Given the description of an element on the screen output the (x, y) to click on. 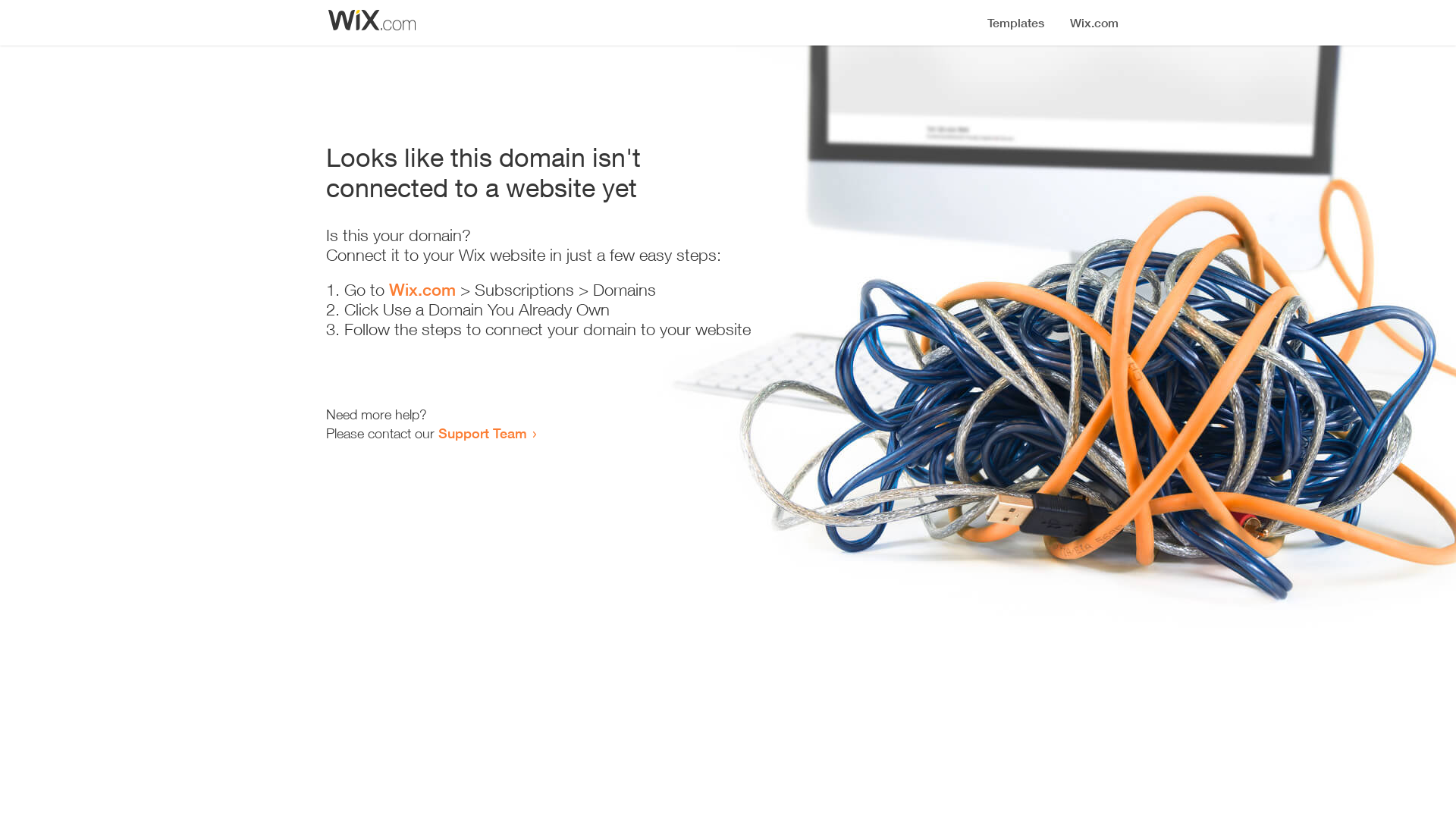
Support Team Element type: text (482, 432)
Wix.com Element type: text (422, 289)
